Given the description of an element on the screen output the (x, y) to click on. 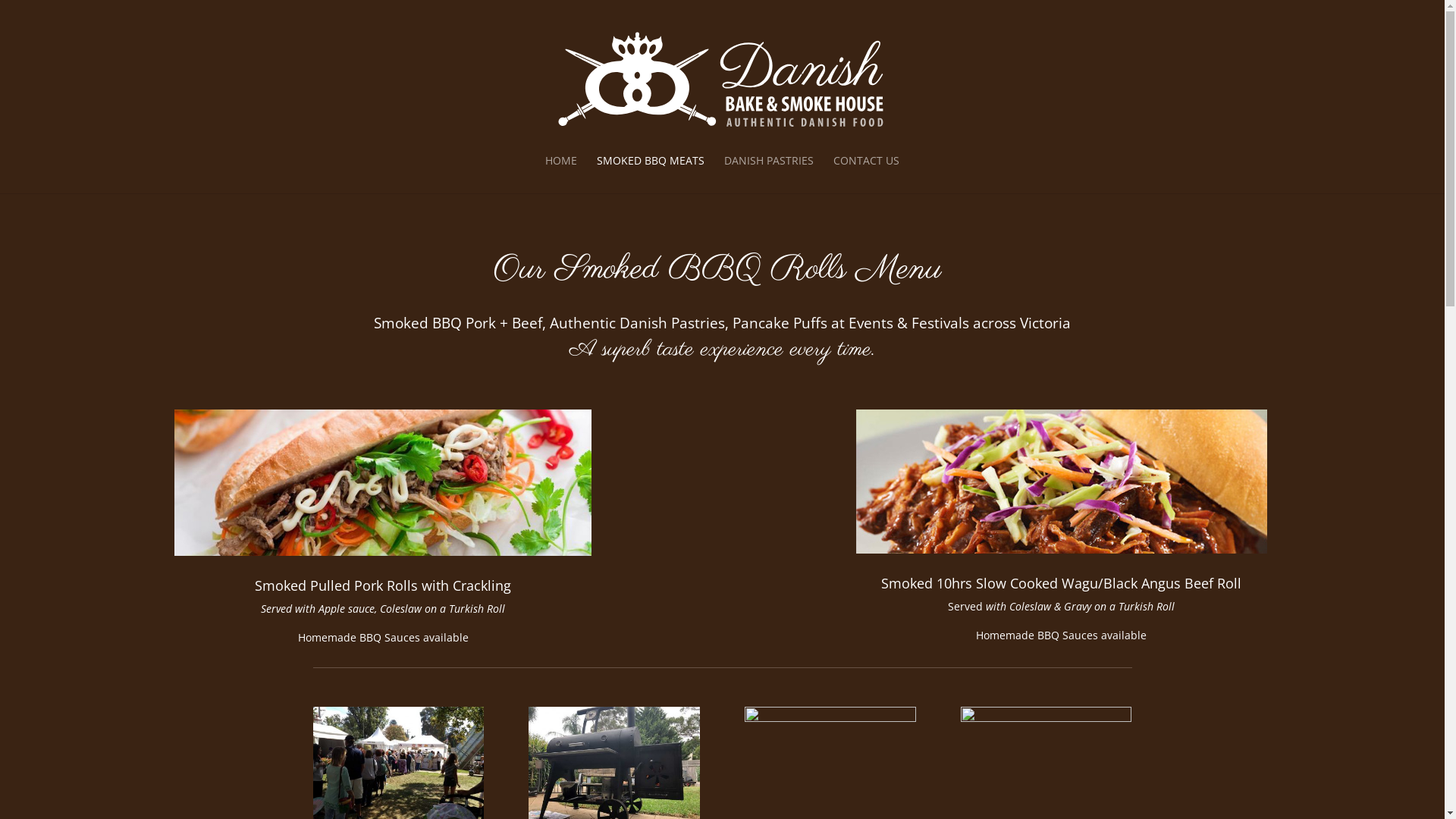
Submit Element type: text (18, 0)
danish-bakehouse-victoria-IMG_2507-2 Element type: hover (1045, 717)
SMOKED BBQ MEATS Element type: text (650, 174)
HOME Element type: text (561, 174)
danish-bakehouse-victoria-IMG_2503 Element type: hover (829, 717)
CONTACT US Element type: text (866, 174)
DANISH PASTRIES Element type: text (768, 174)
